Given the description of an element on the screen output the (x, y) to click on. 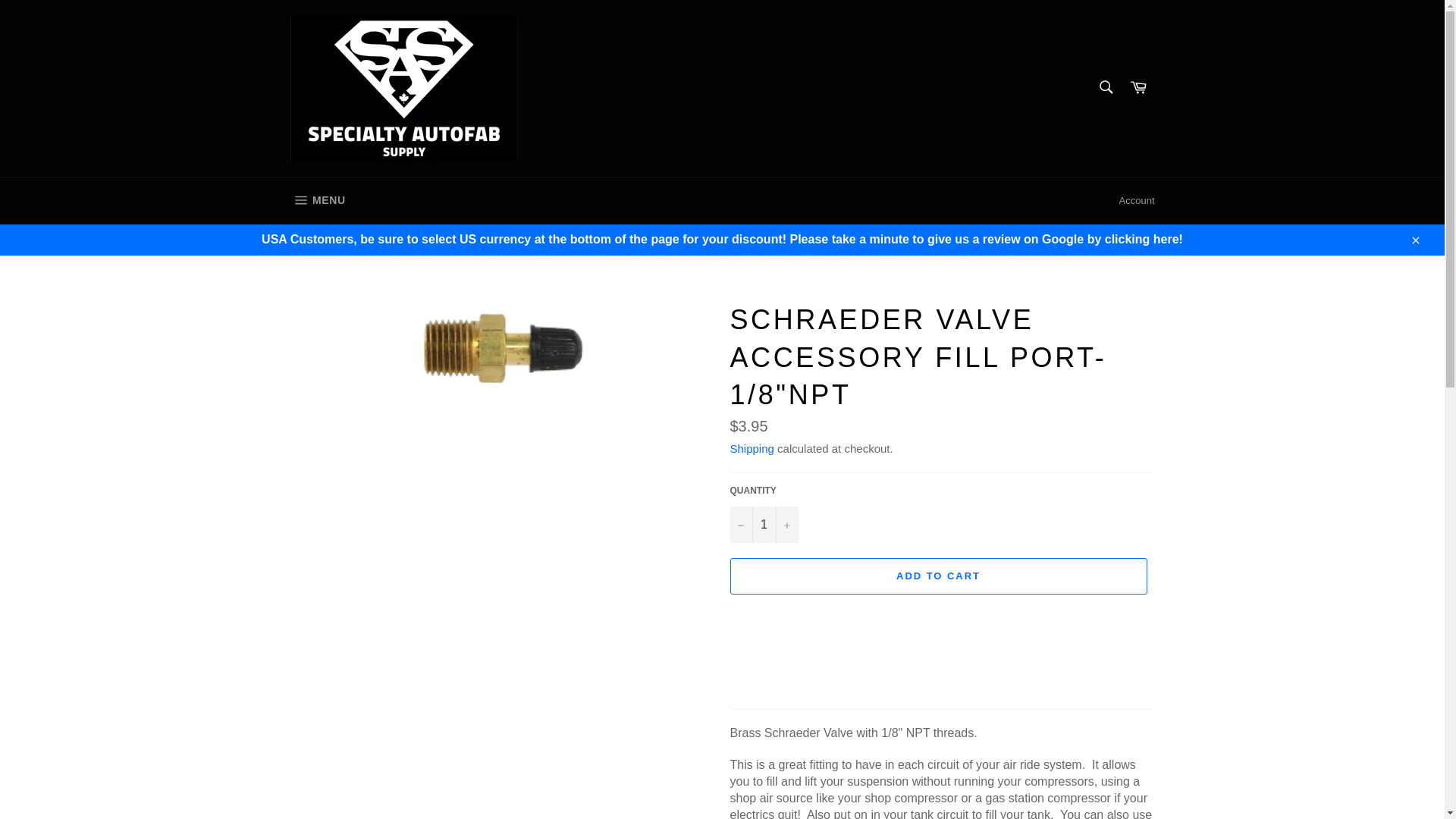
ADD TO CART (938, 575)
Cart (317, 200)
Shipping (1138, 88)
Close (751, 448)
1 (1414, 239)
Account (763, 524)
Search (1136, 200)
